Given the description of an element on the screen output the (x, y) to click on. 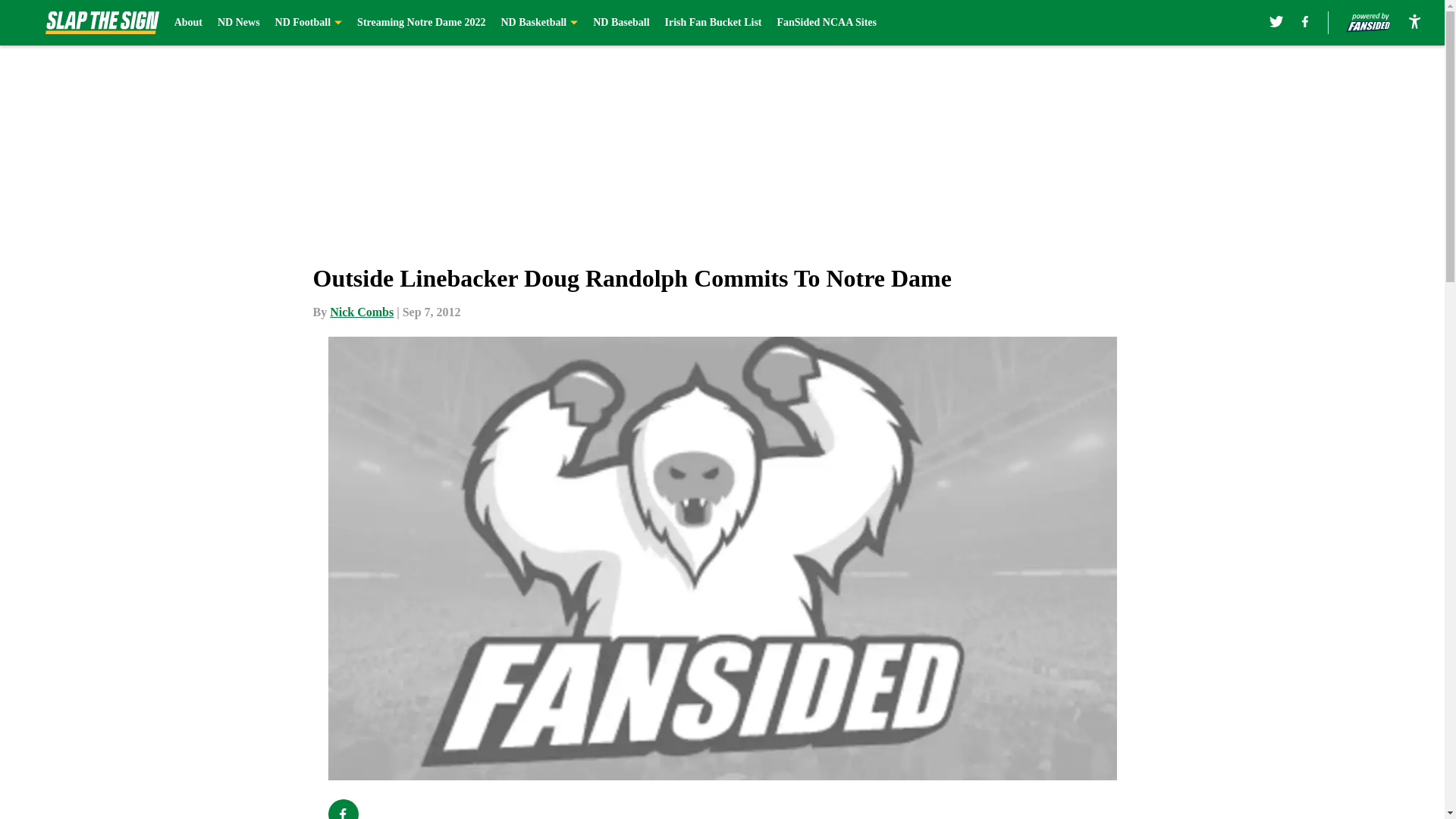
About (188, 22)
FanSided NCAA Sites (826, 22)
ND Baseball (620, 22)
ND News (238, 22)
Streaming Notre Dame 2022 (420, 22)
Irish Fan Bucket List (713, 22)
Nick Combs (361, 311)
